Given the description of an element on the screen output the (x, y) to click on. 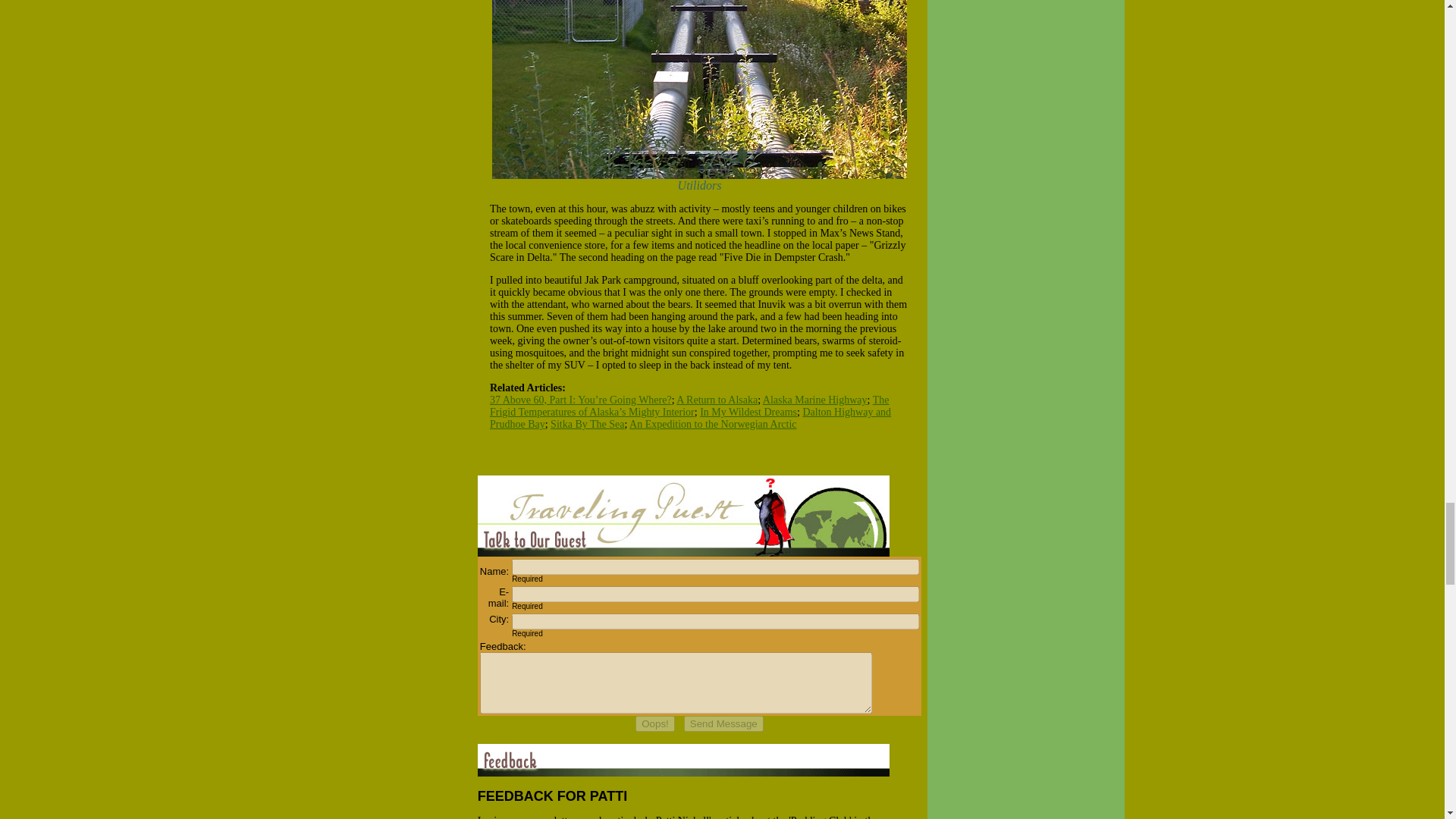
Oops! (654, 723)
Send Message (723, 723)
